Given the description of an element on the screen output the (x, y) to click on. 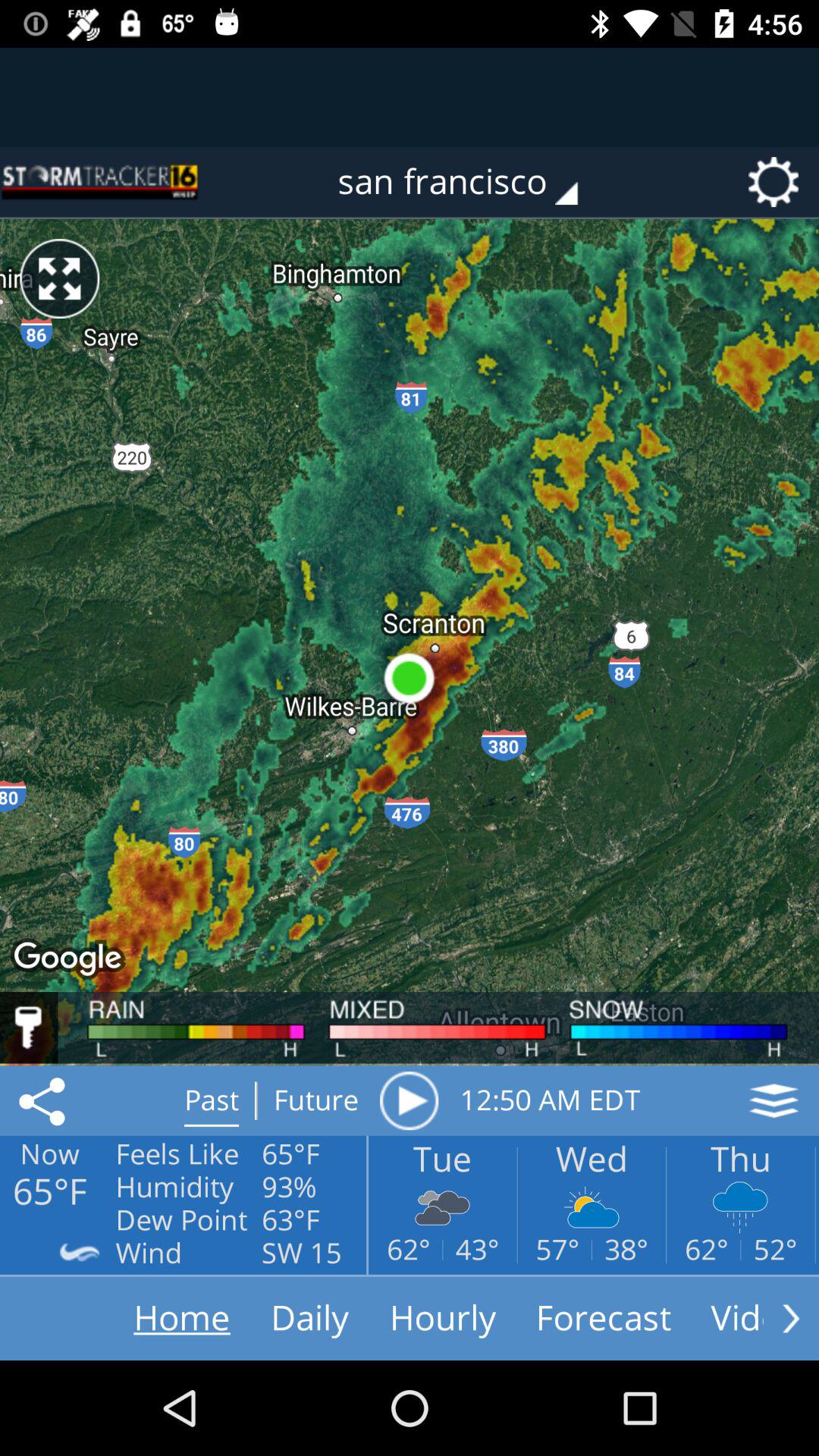
press the san francisco item (468, 182)
